Given the description of an element on the screen output the (x, y) to click on. 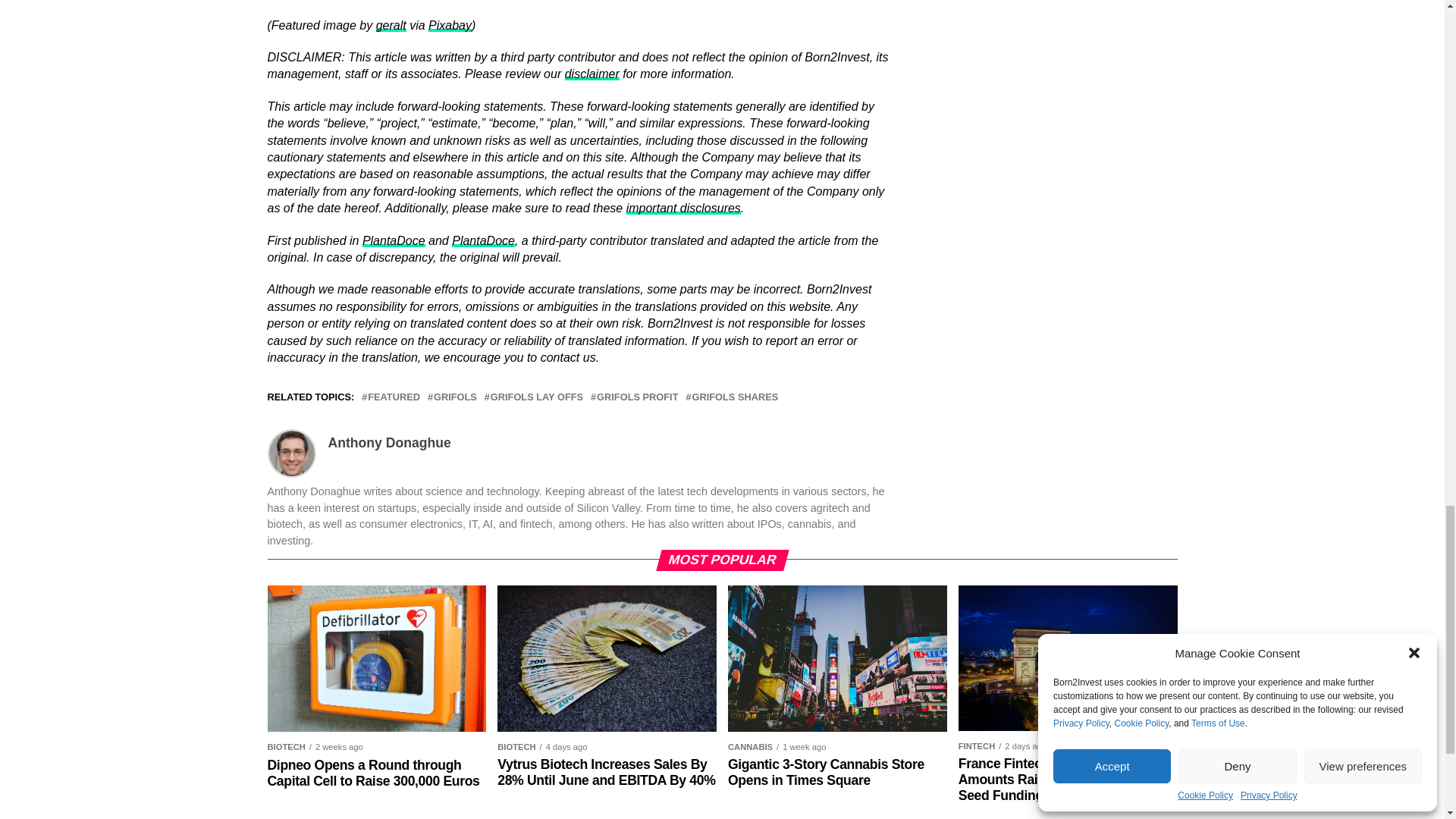
Posts by Anthony Donaghue (388, 442)
